Given the description of an element on the screen output the (x, y) to click on. 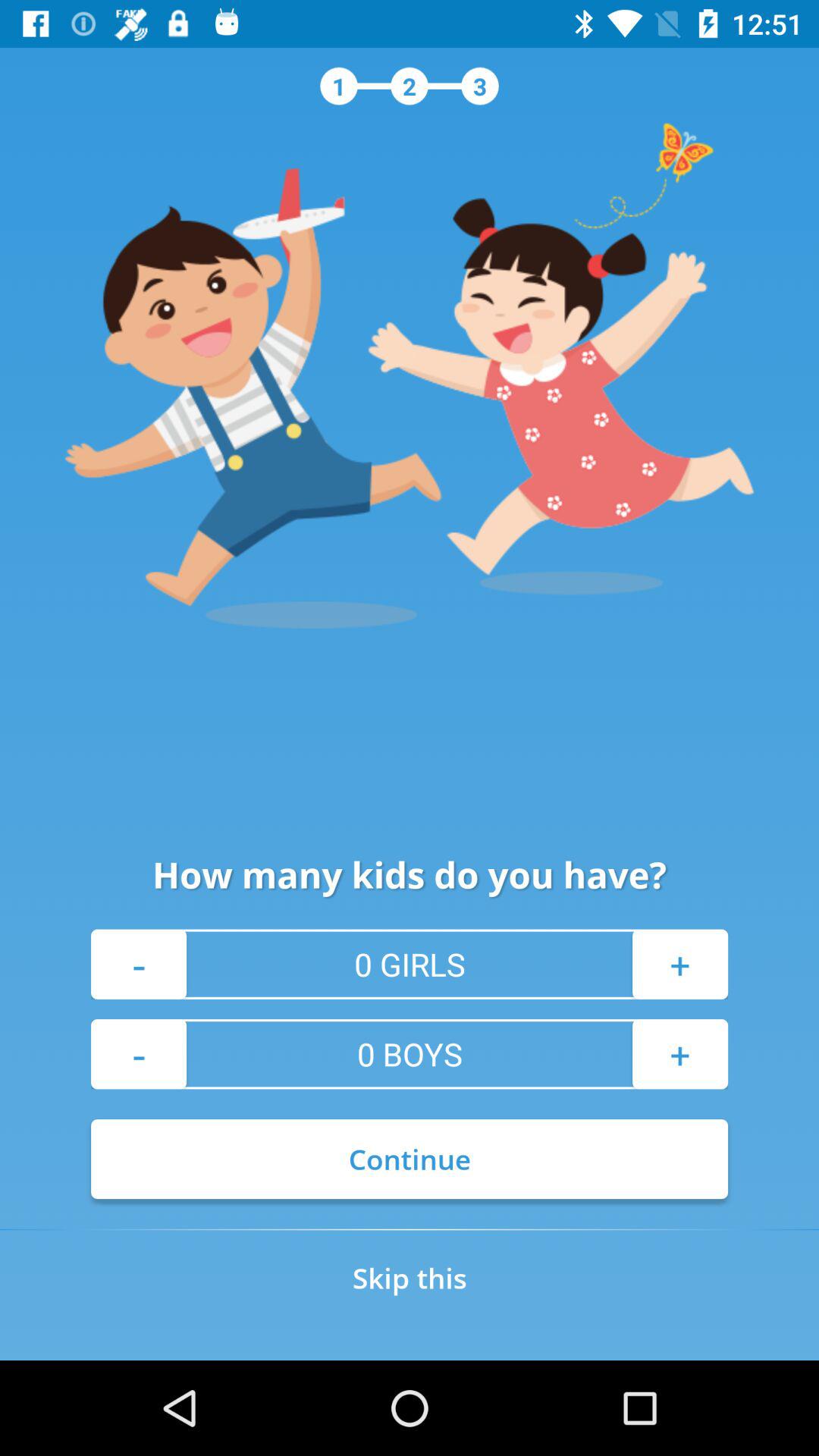
press skip this (409, 1277)
